Given the description of an element on the screen output the (x, y) to click on. 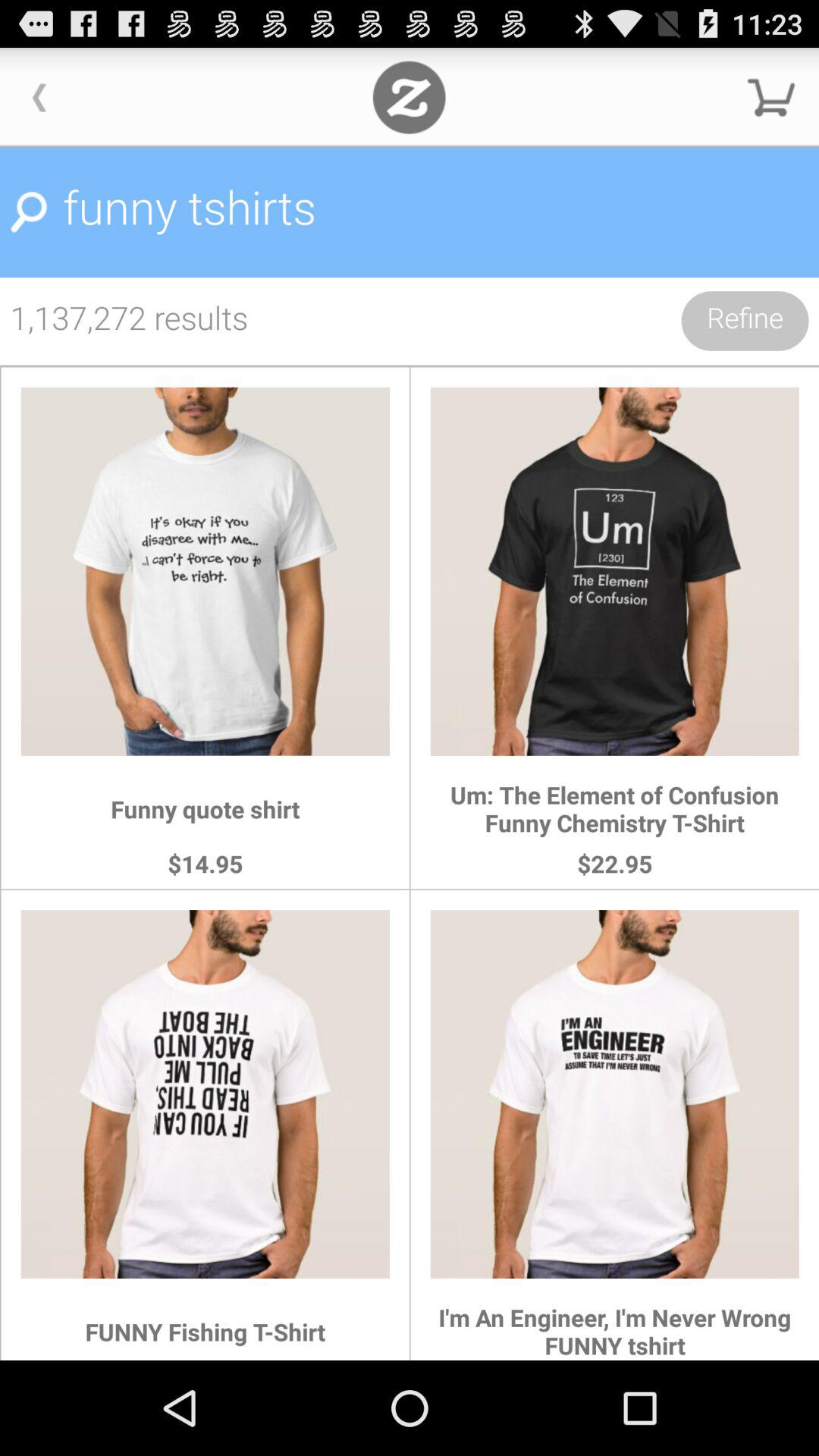
tap the refine (744, 320)
